Given the description of an element on the screen output the (x, y) to click on. 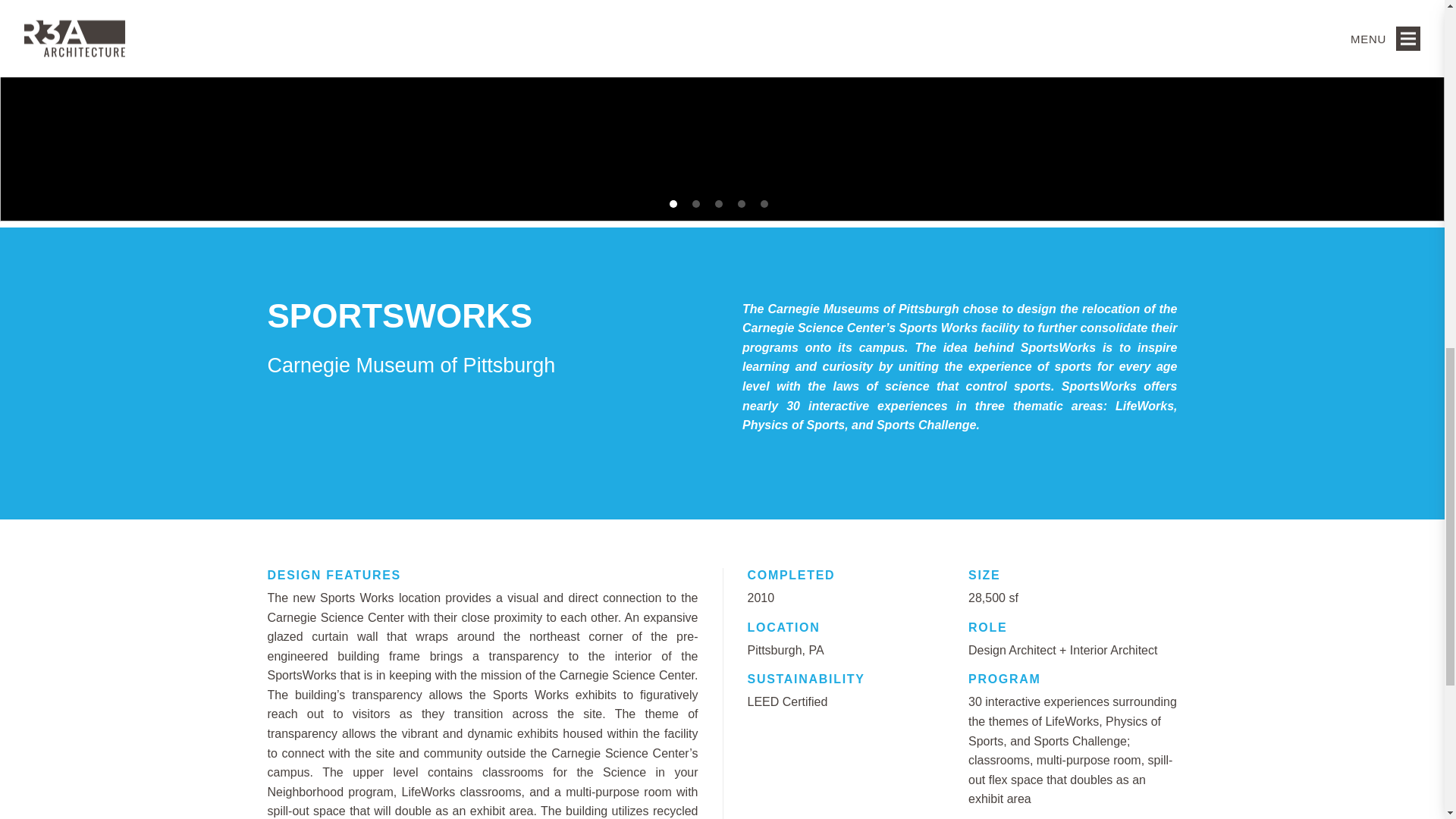
3 (718, 203)
1 (672, 203)
4 (740, 203)
5 (763, 203)
2 (694, 203)
